Given the description of an element on the screen output the (x, y) to click on. 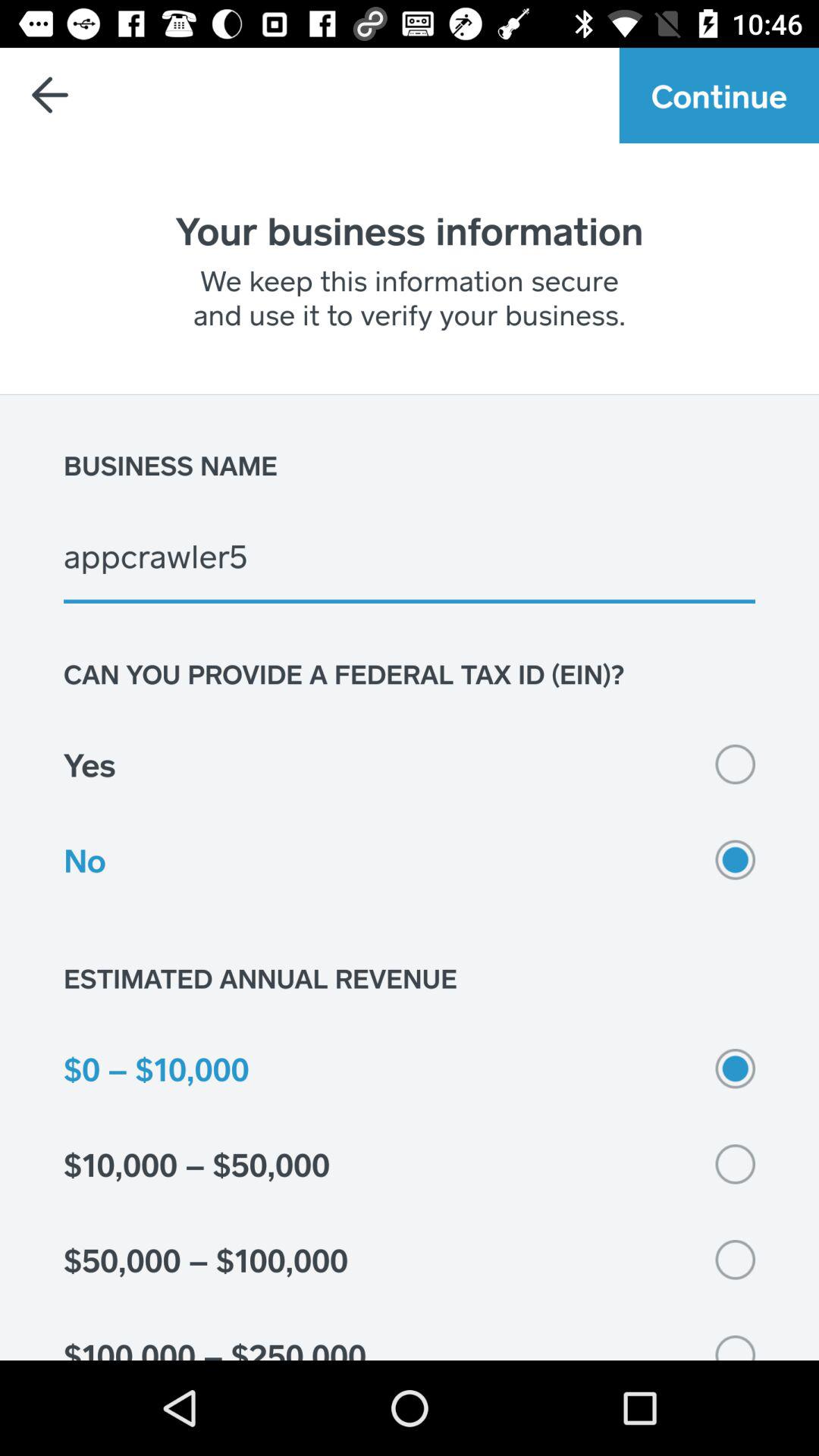
press the continue at the top right corner (719, 95)
